Given the description of an element on the screen output the (x, y) to click on. 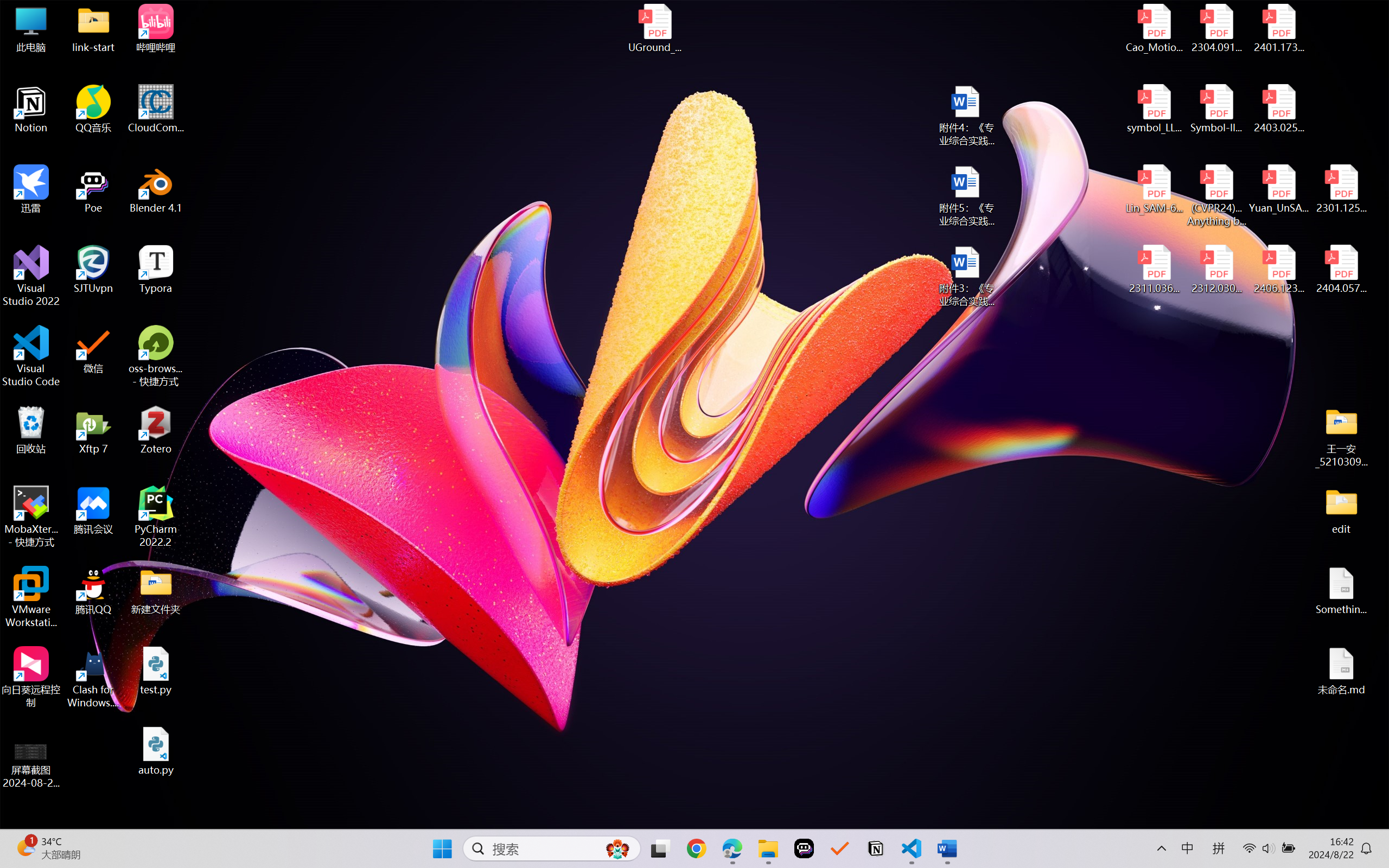
VMware Workstation Pro (31, 597)
2304.09121v3.pdf (1216, 28)
2403.02502v1.pdf (1278, 109)
2312.03032v2.pdf (1216, 269)
